Given the description of an element on the screen output the (x, y) to click on. 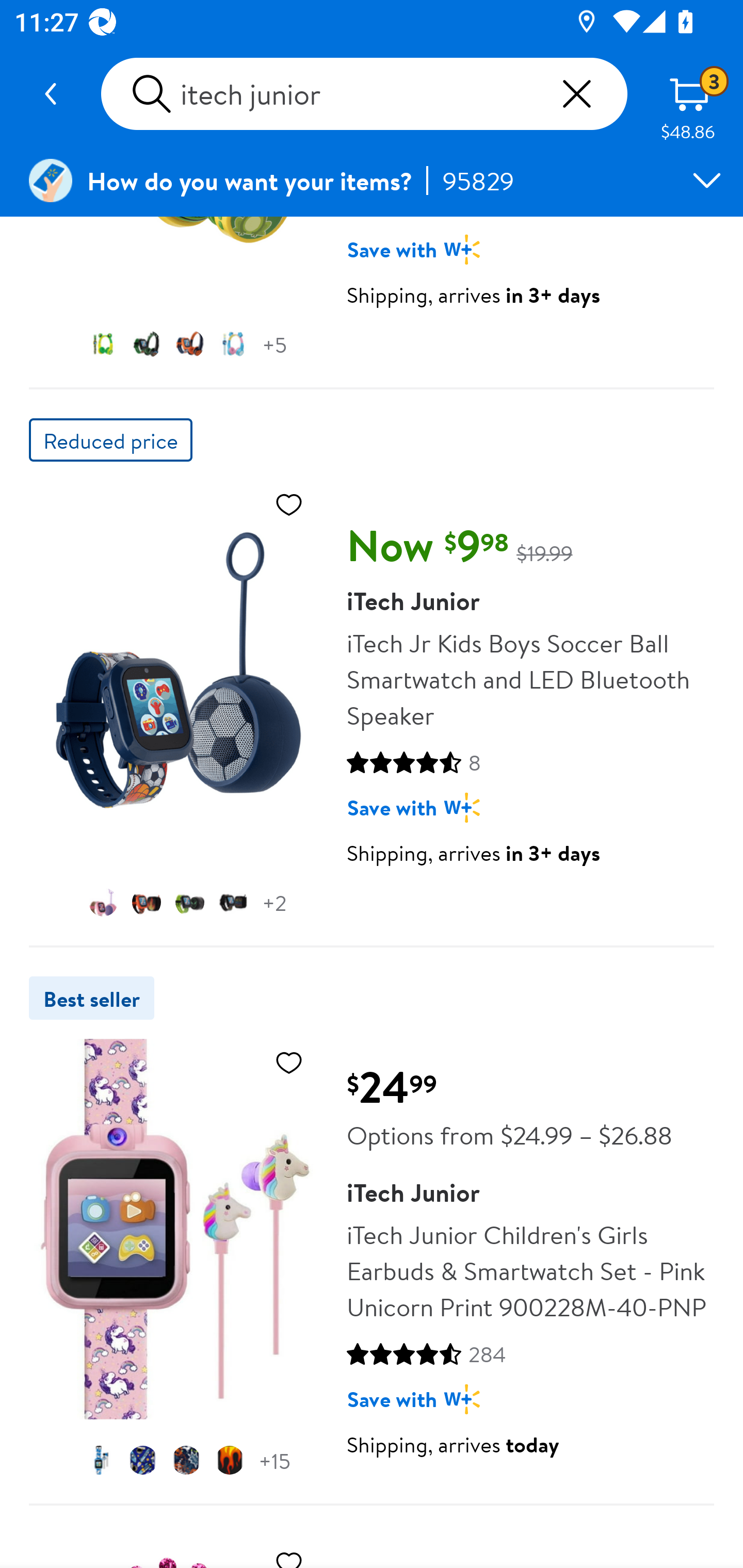
Navigate up (50, 93)
itech junior Clear Text (364, 94)
Clear Text (576, 94)
